Given the description of an element on the screen output the (x, y) to click on. 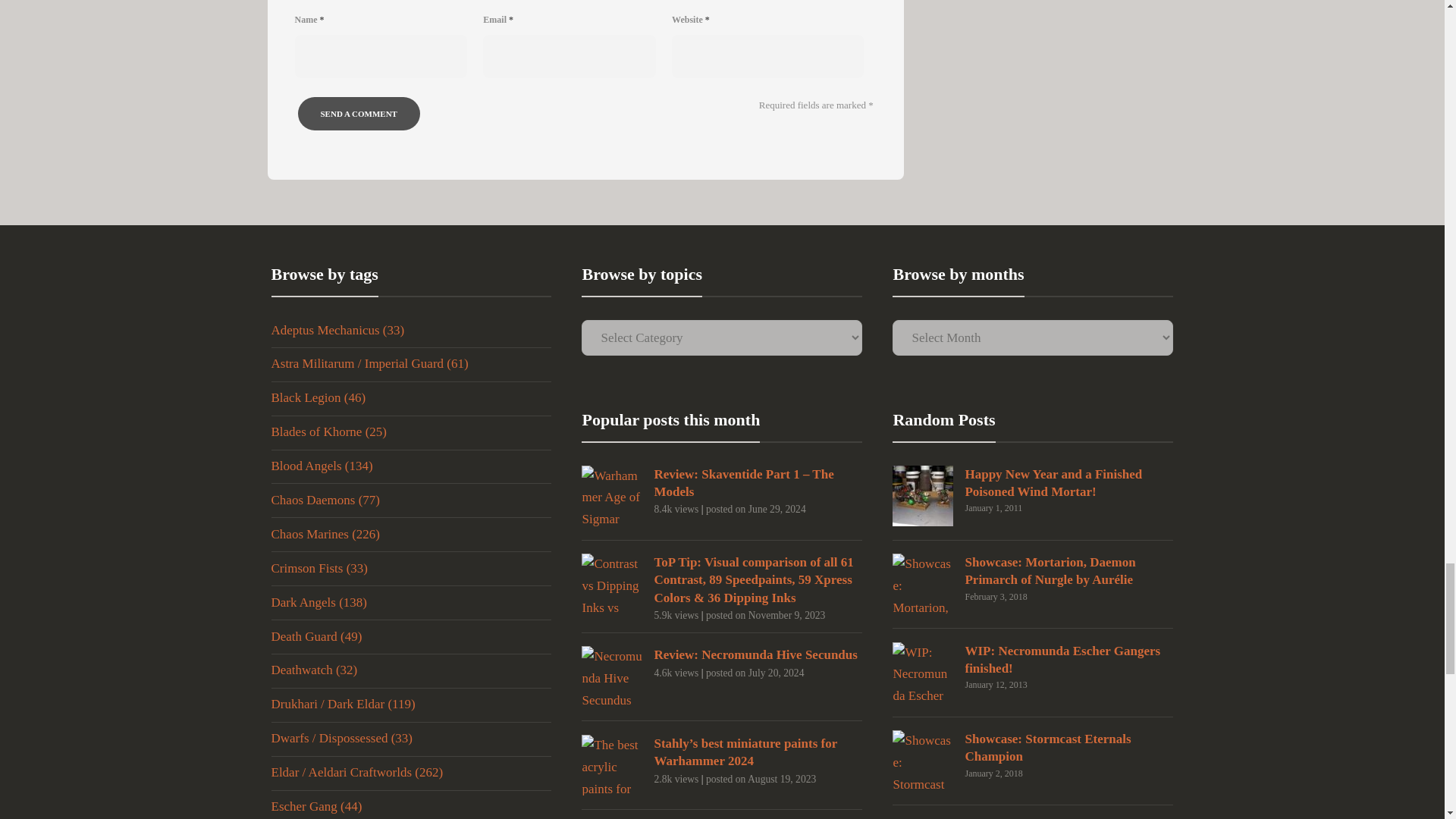
Send a comment (358, 113)
